Given the description of an element on the screen output the (x, y) to click on. 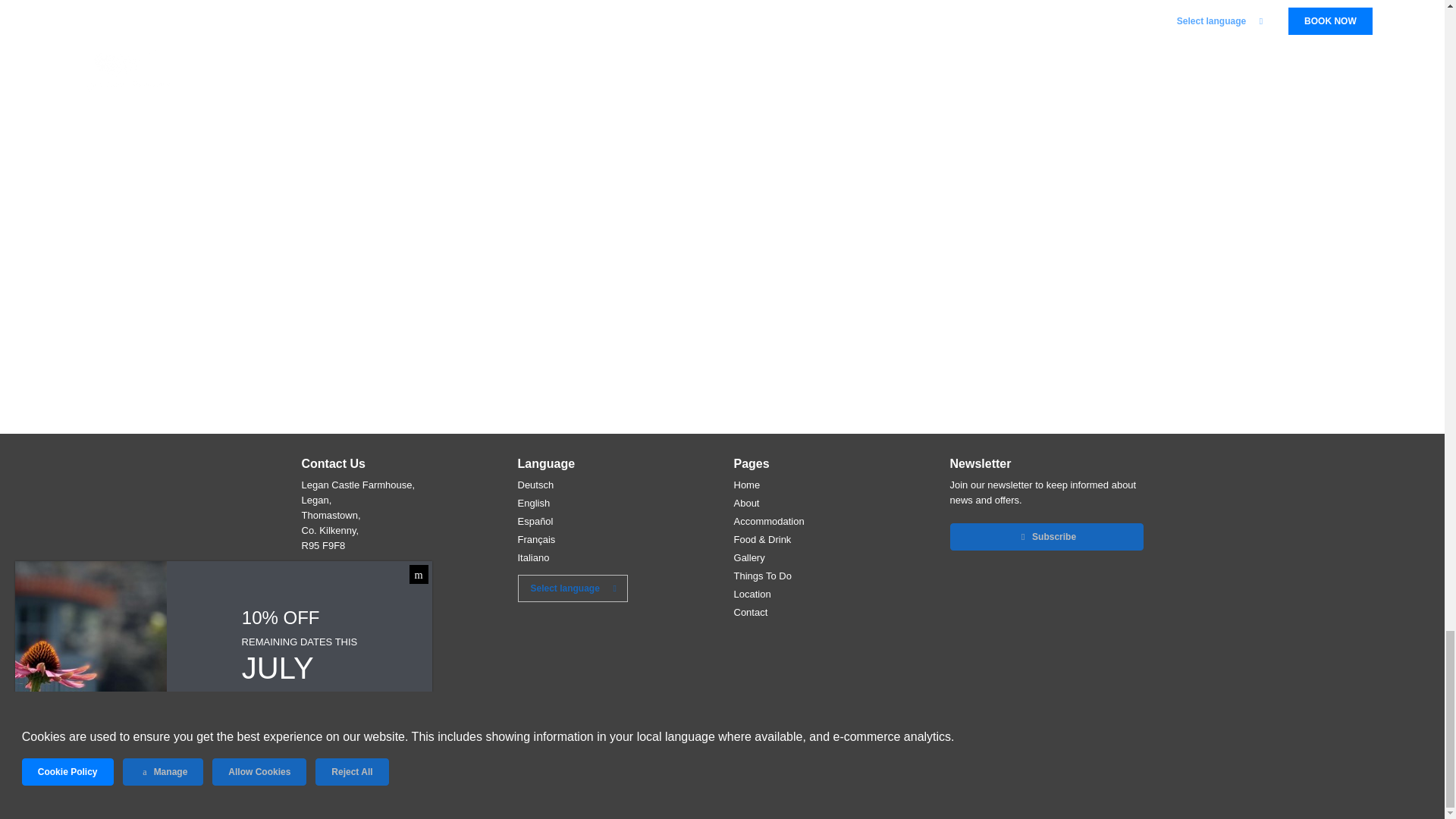
Deutsch (534, 485)
Italiano (532, 557)
English (533, 503)
